Given the description of an element on the screen output the (x, y) to click on. 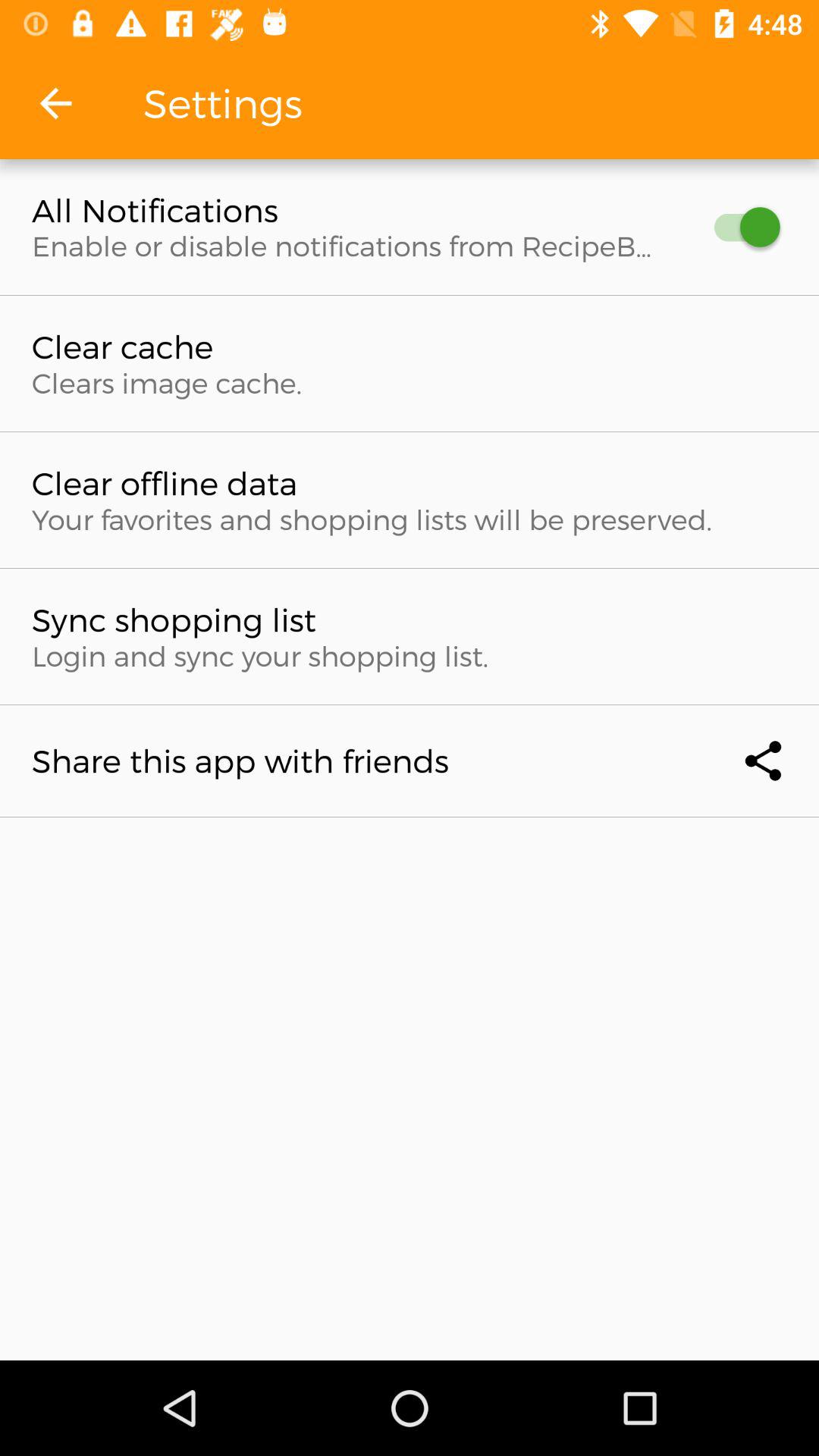
turn off notifications (739, 227)
